Given the description of an element on the screen output the (x, y) to click on. 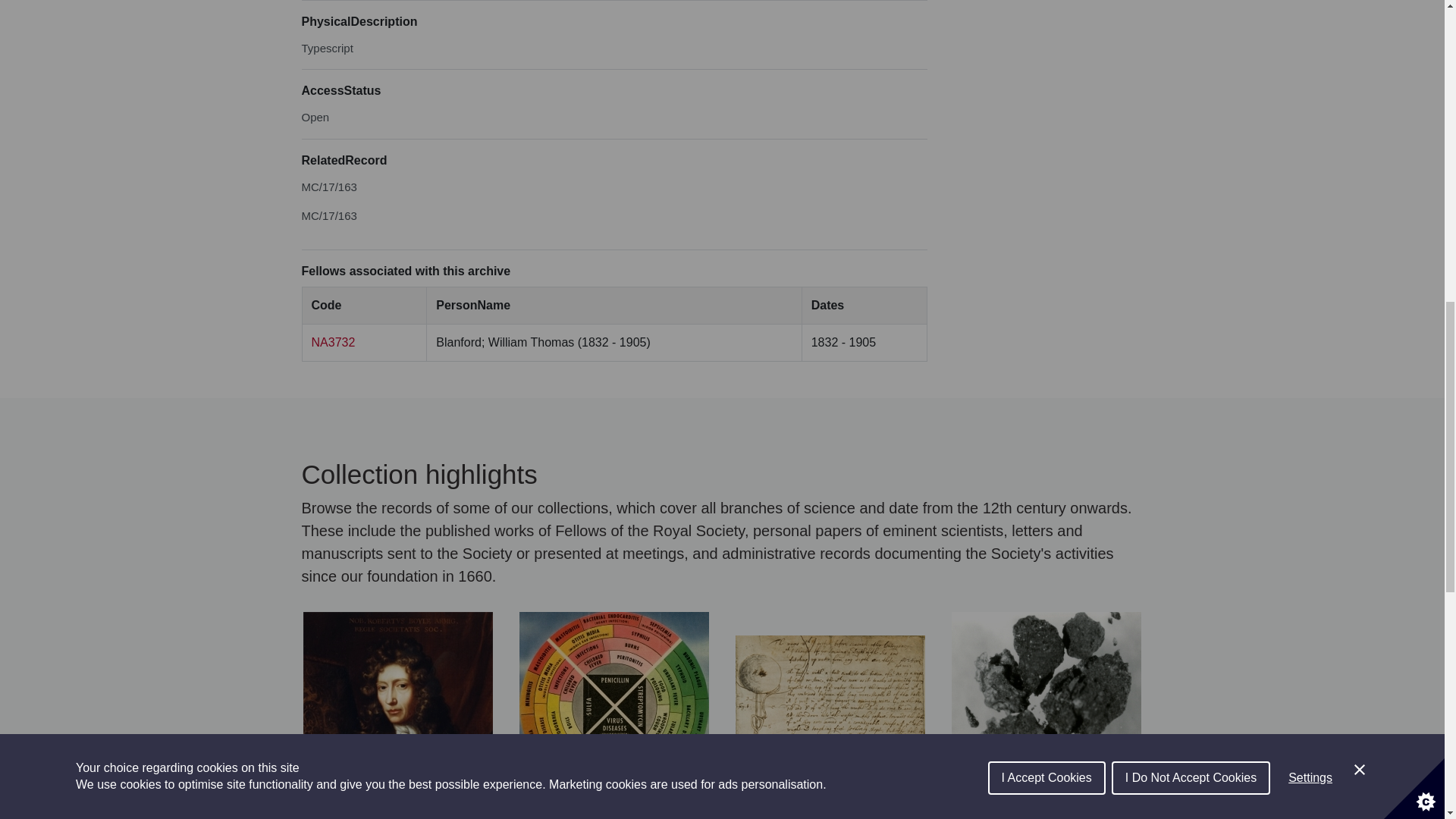
Classified Papers (830, 715)
Papers of Howard Florey (613, 715)
I Do Not Accept Cookies (1190, 12)
NA3732 (333, 341)
Settings (1309, 4)
I Accept Cookies (1046, 17)
Show related Persons records. (333, 341)
Papers of Colin Pillinger (1045, 715)
Papers of Robert Boyle (398, 715)
